Given the description of an element on the screen output the (x, y) to click on. 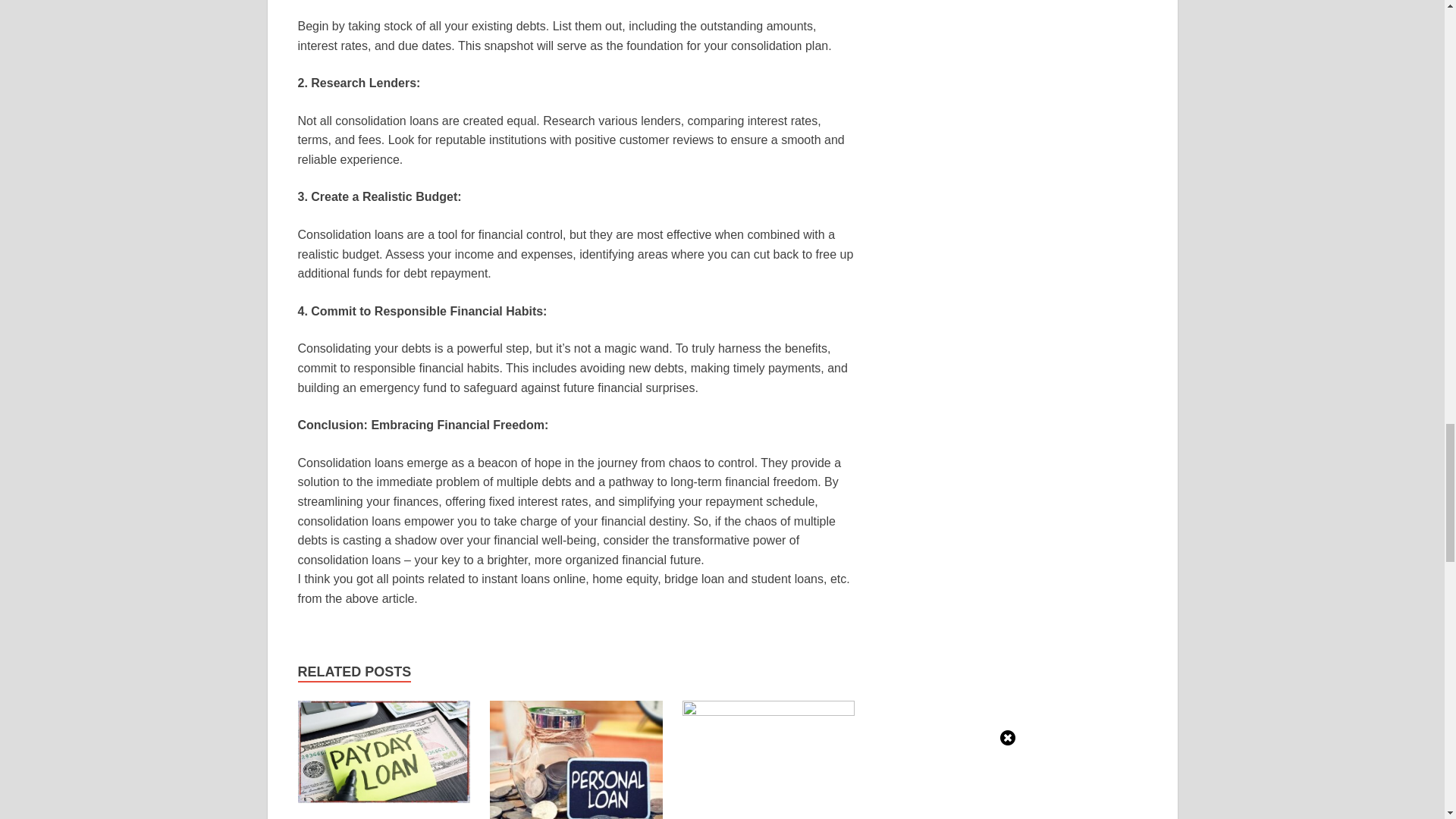
Car Loans in the USA: Navigating Risks and Rewards (364, 817)
Car Loans in the USA: Navigating Risks and Rewards (383, 757)
Secure and Unsecure Loans in the USA: A Comprehensive Guide (575, 770)
Car Loans in the USA: Navigating Risks and Rewards (364, 817)
